Given the description of an element on the screen output the (x, y) to click on. 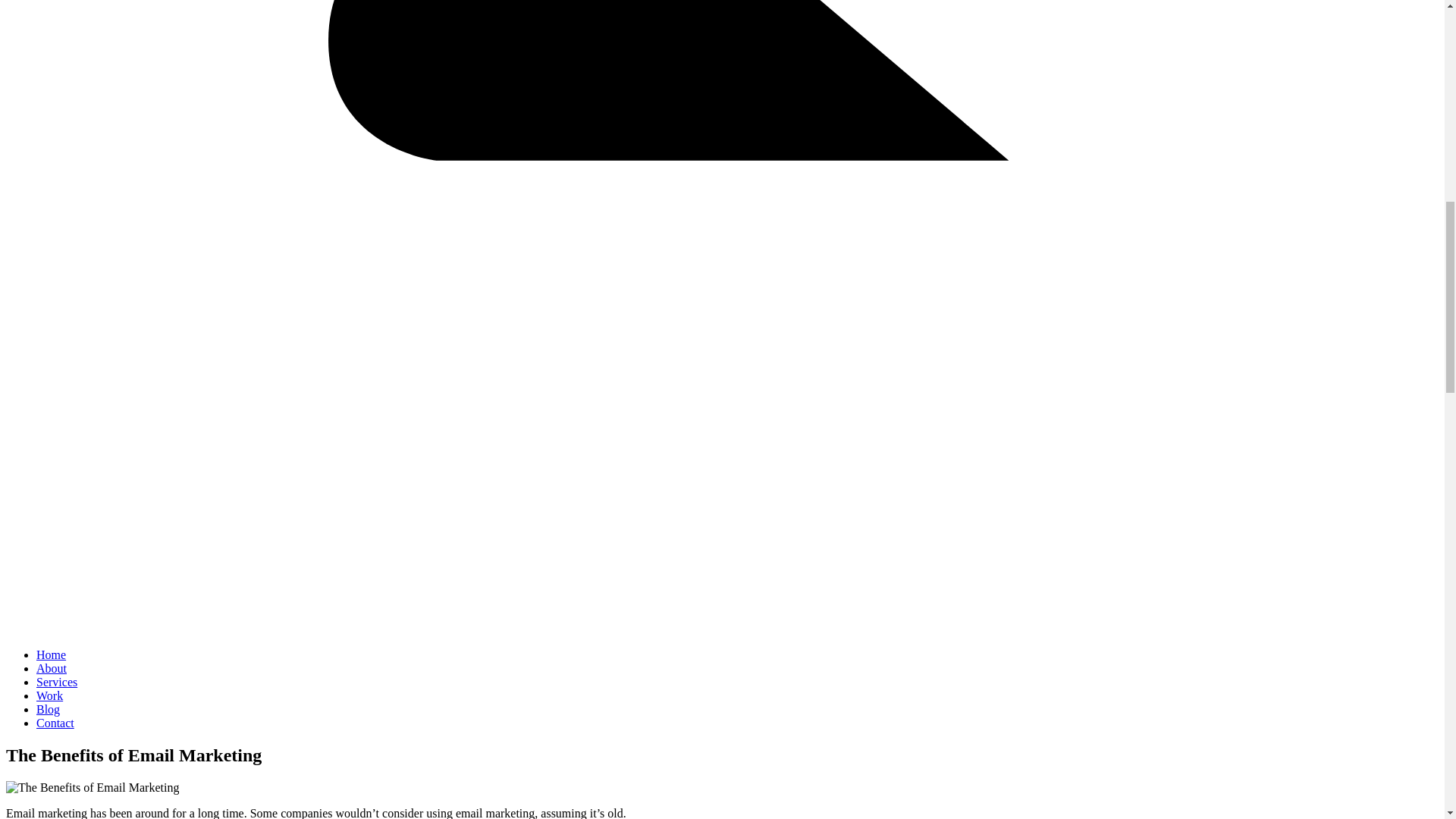
Contact (55, 722)
Work (49, 695)
About (51, 667)
Blog (47, 708)
Services (56, 681)
